Given the description of an element on the screen output the (x, y) to click on. 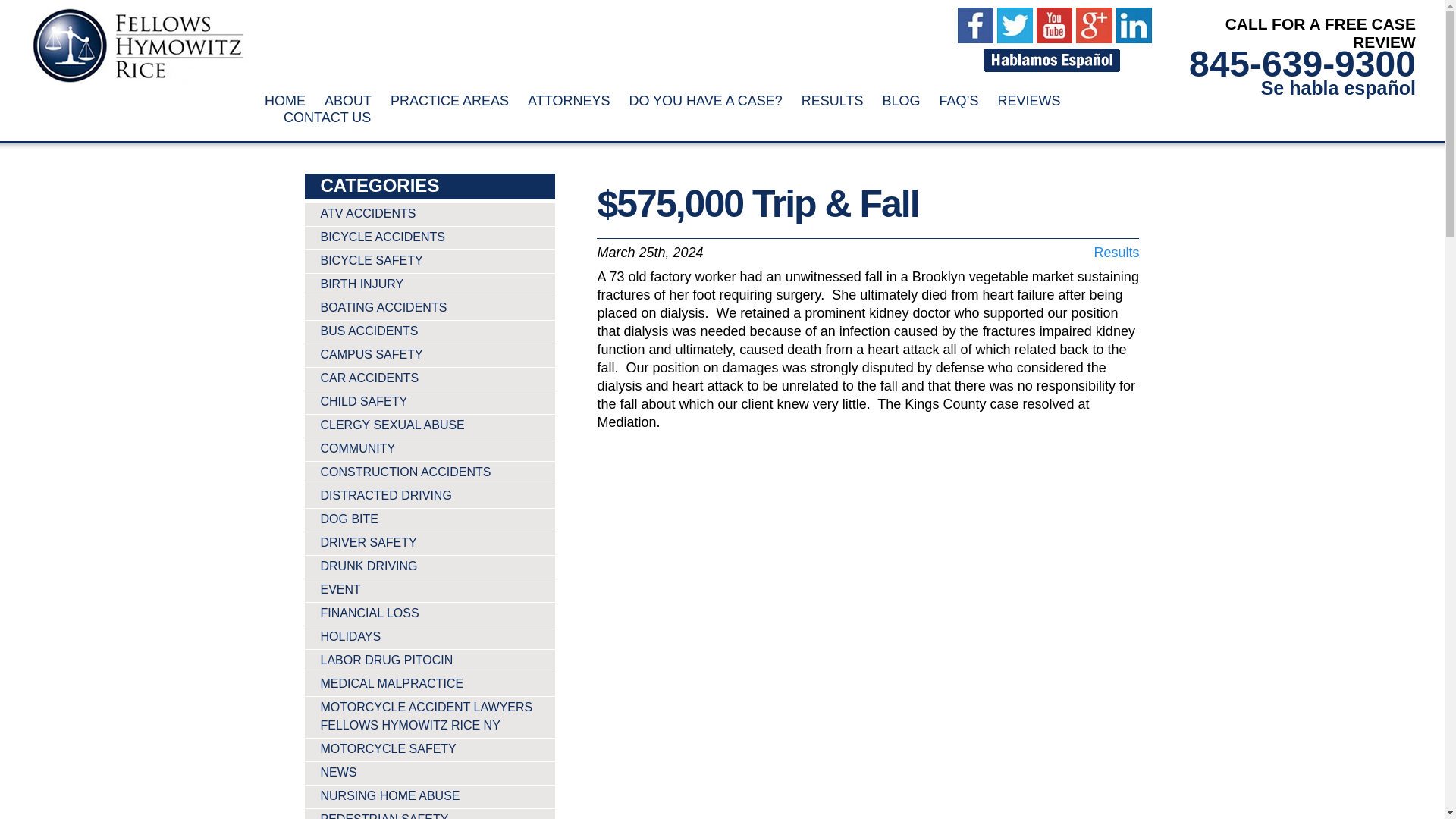
PRACTICE AREAS (449, 100)
HOME (284, 100)
ABOUT (347, 100)
